Given the description of an element on the screen output the (x, y) to click on. 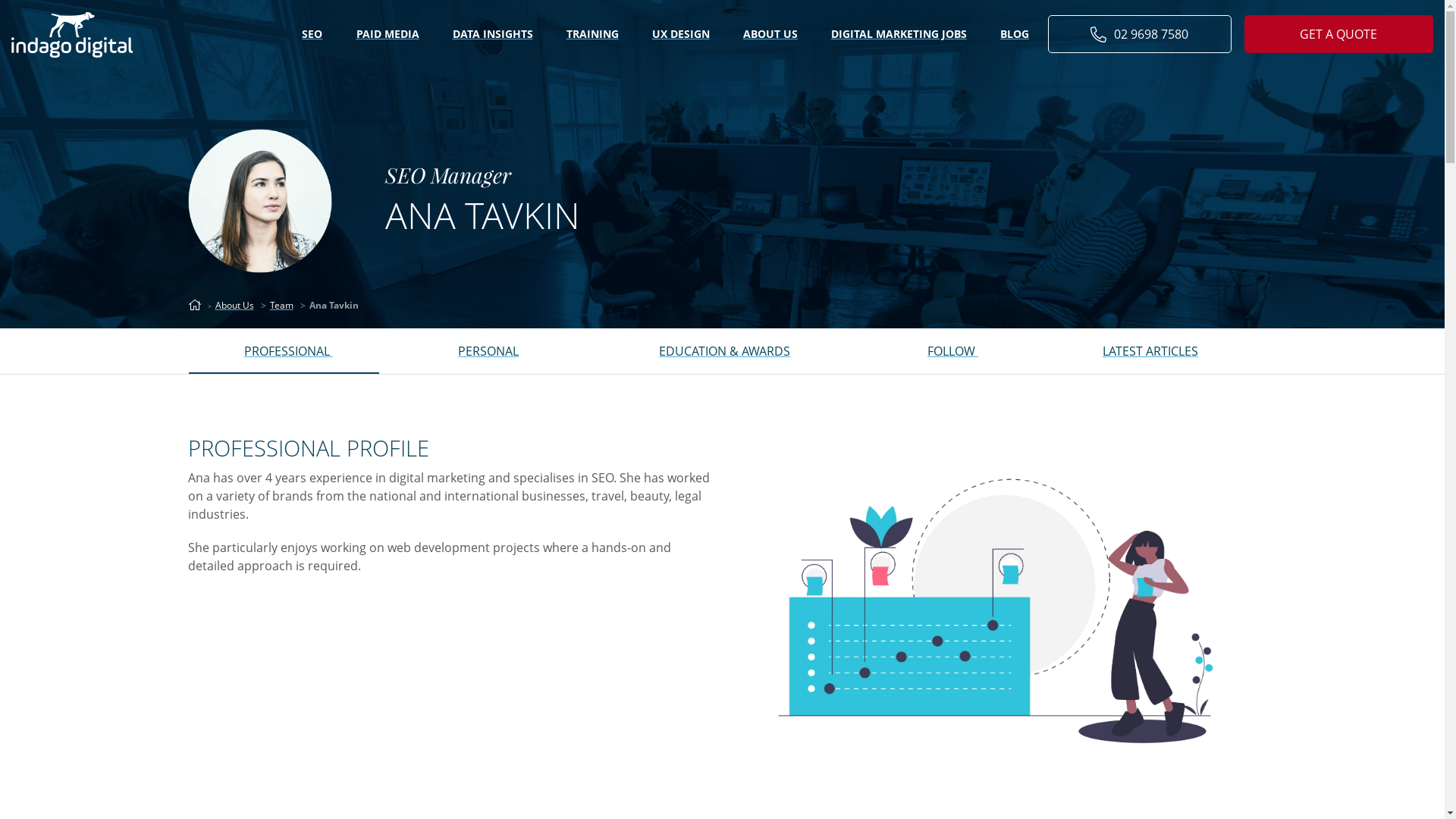
PERSONAL Element type: text (488, 350)
GET A QUOTE Element type: text (1338, 34)
02 9698 7580 Element type: text (1139, 34)
DIGITAL MARKETING JOBS Element type: text (898, 34)
PAID MEDIA Element type: text (387, 34)
LATEST ARTICLES Element type: text (1150, 350)
EDUCATION & AWARDS Element type: text (724, 350)
TRAINING Element type: text (592, 34)
SEO Element type: text (311, 34)
About Us Element type: text (234, 304)
PROFESSIONAL  Element type: text (288, 350)
Team Element type: text (281, 304)
UX DESIGN Element type: text (680, 34)
DATA INSIGHTS Element type: text (492, 34)
ABOUT US Element type: text (770, 34)
BLOG Element type: text (1014, 34)
FOLLOW  Element type: text (952, 350)
